Given the description of an element on the screen output the (x, y) to click on. 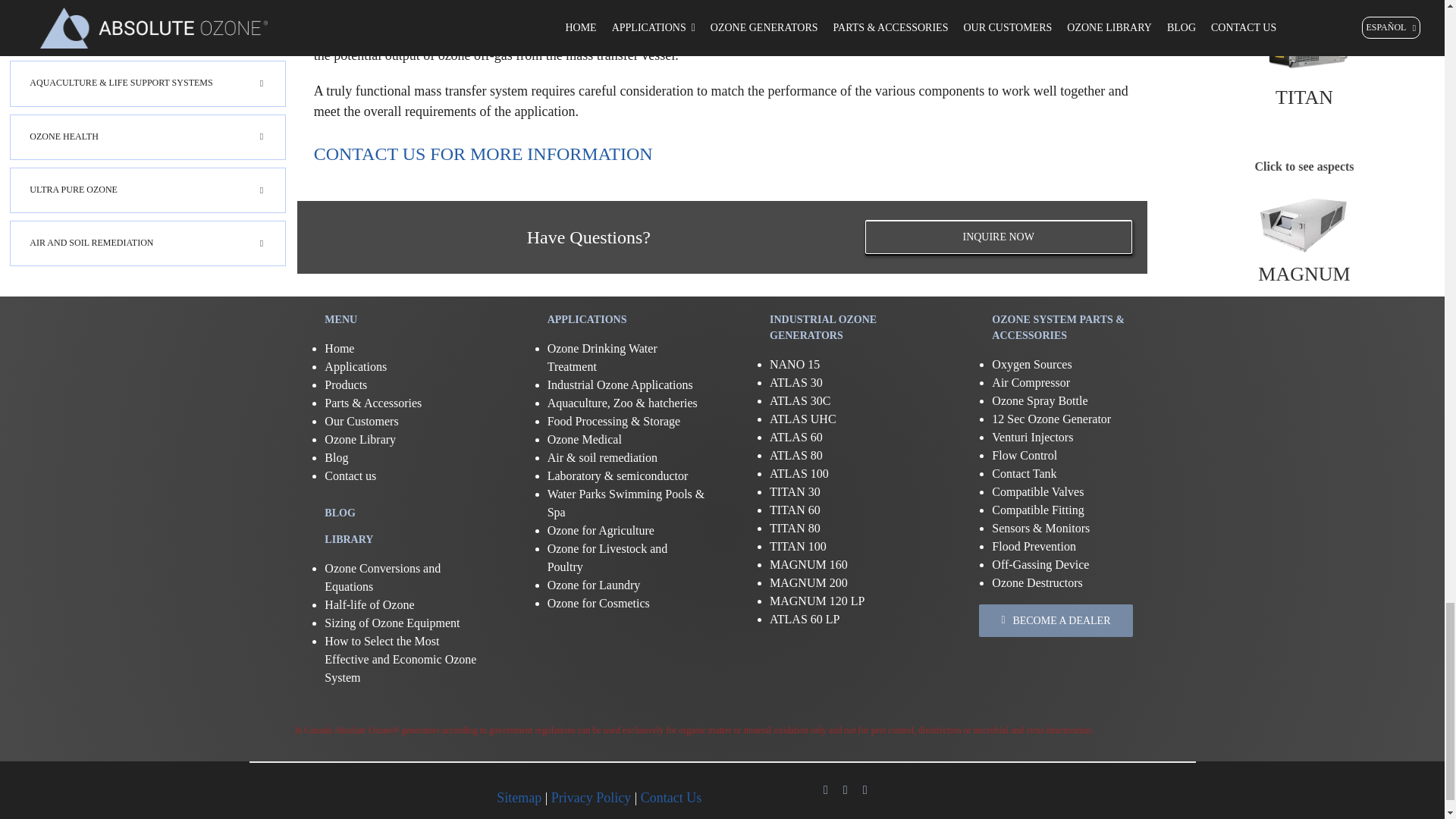
ao-icon (352, 793)
